Given the description of an element on the screen output the (x, y) to click on. 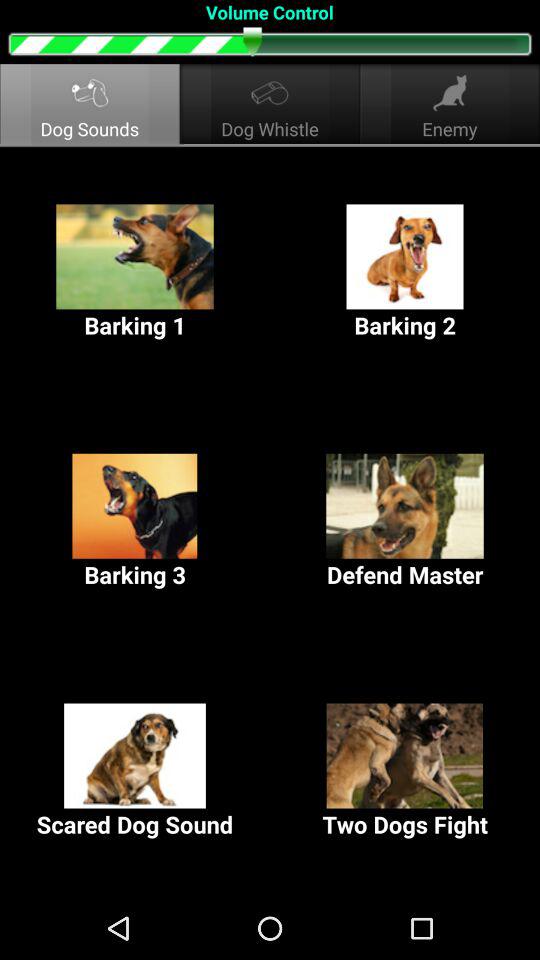
select item next to the barking 1 (405, 272)
